Given the description of an element on the screen output the (x, y) to click on. 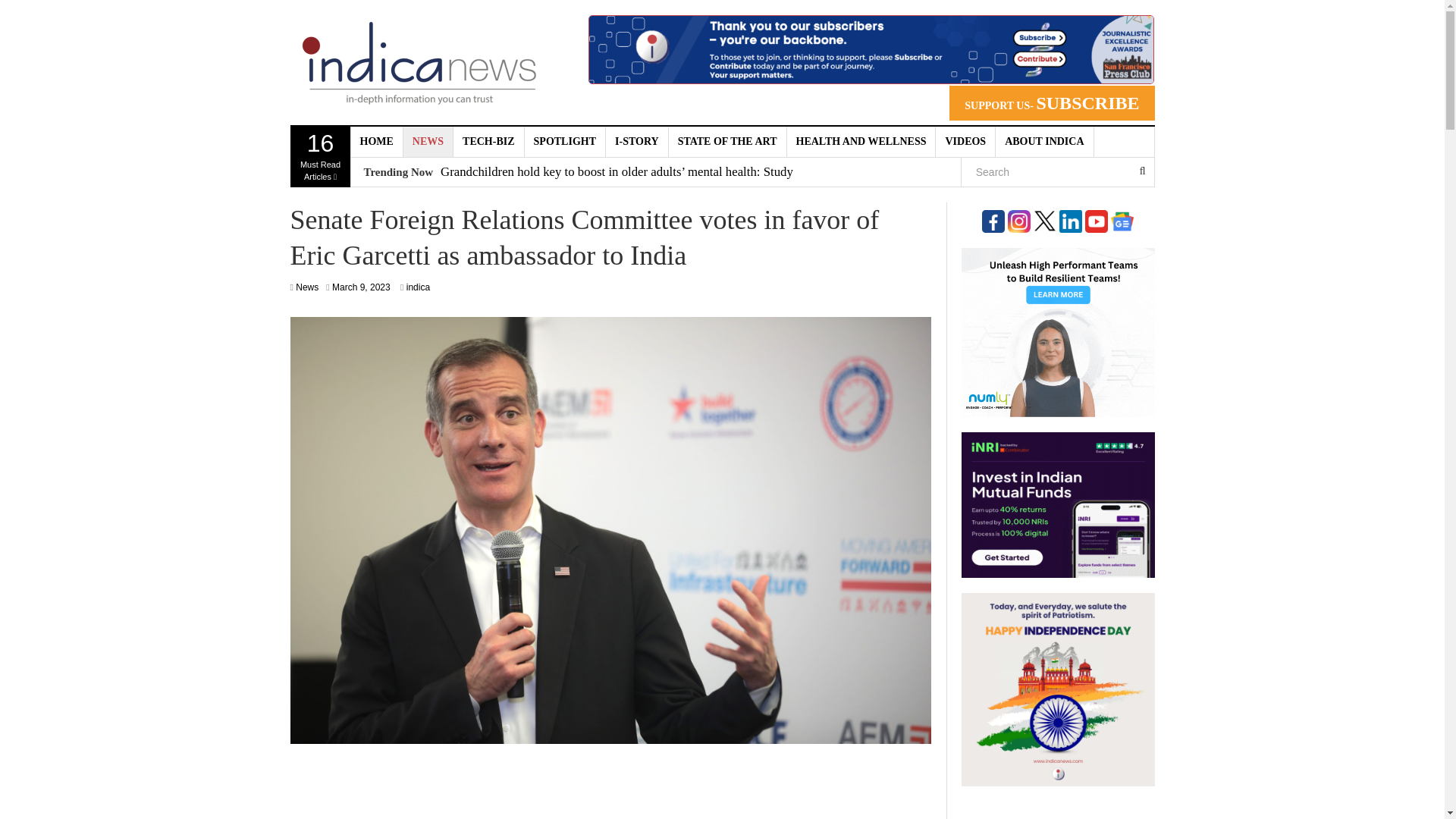
SUPPORT US- SUBSCRIBE (1051, 102)
NEWS (427, 141)
HOME (319, 156)
TECH-BIZ (376, 141)
I-STORY (488, 141)
News (636, 141)
ABOUT INDICA (306, 286)
HEALTH AND WELLNESS (1044, 141)
SPOTLIGHT (861, 141)
